Given the description of an element on the screen output the (x, y) to click on. 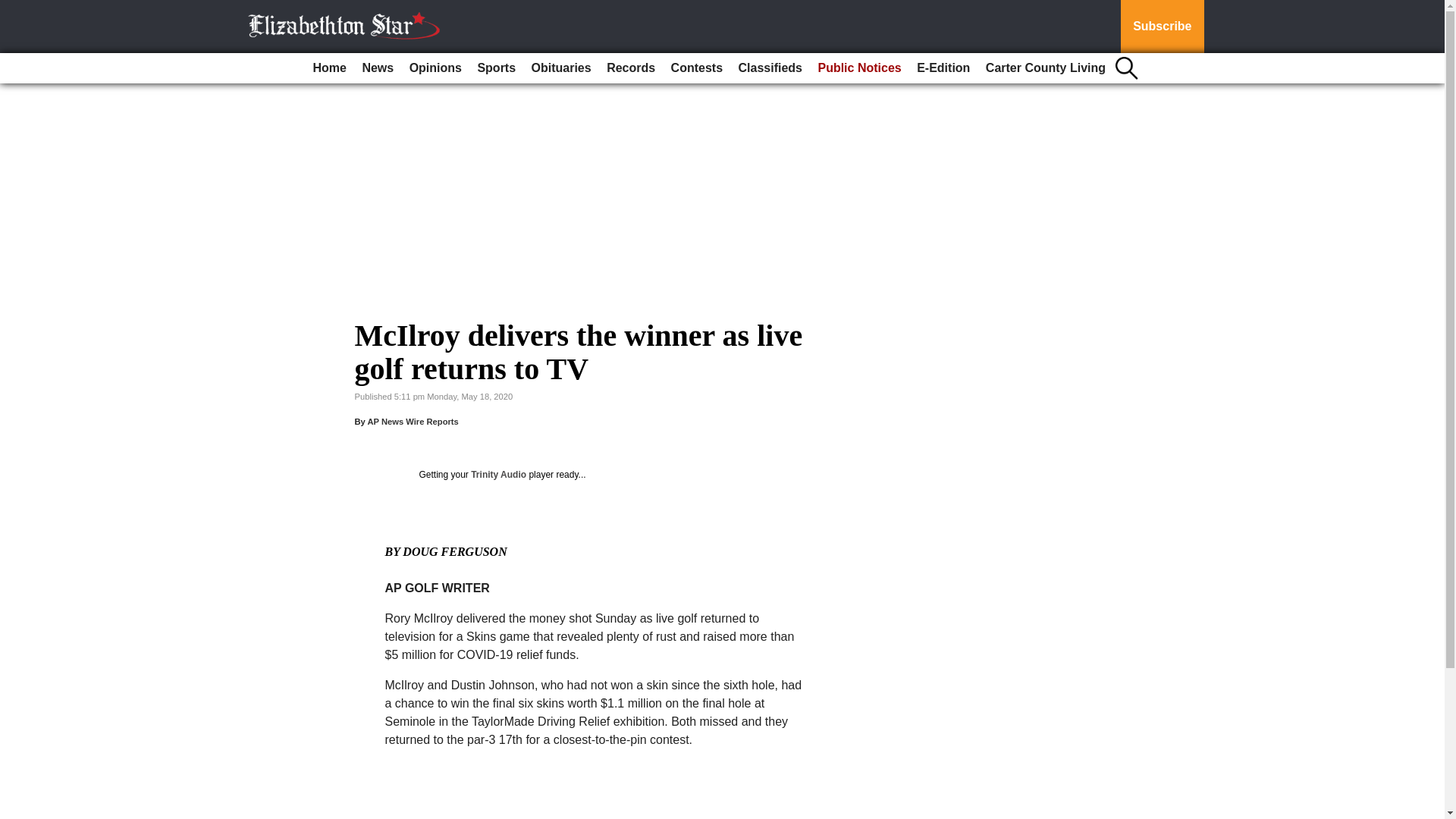
Go (13, 9)
Classifieds (770, 68)
Subscribe (1162, 26)
Opinions (435, 68)
Obituaries (560, 68)
Home (328, 68)
Records (630, 68)
Carter County Living (1045, 68)
Public Notices (858, 68)
Trinity Audio (497, 474)
Sports (495, 68)
AP News Wire Reports (412, 420)
E-Edition (943, 68)
News (376, 68)
Contests (697, 68)
